Given the description of an element on the screen output the (x, y) to click on. 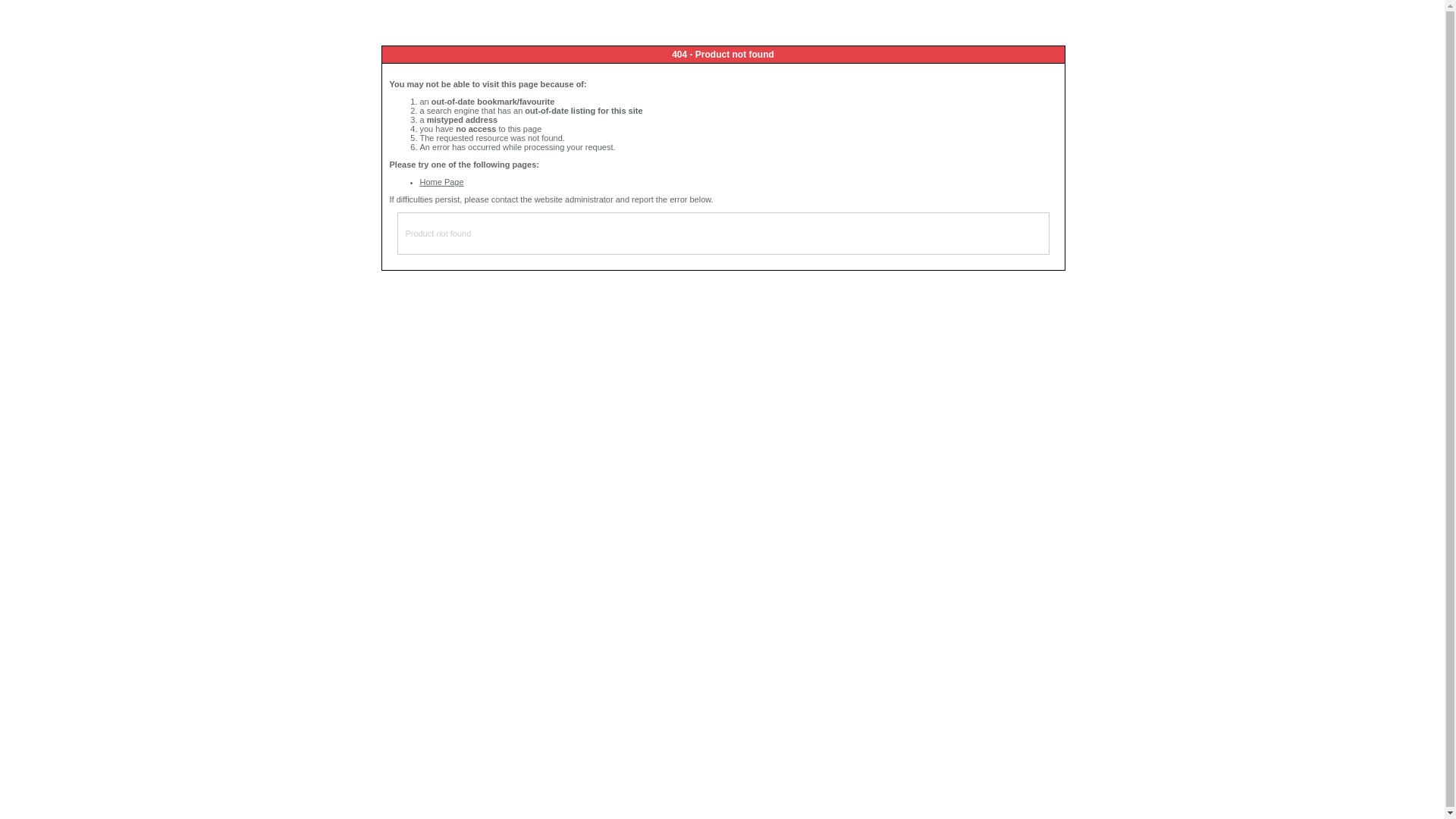
Home Page Element type: text (442, 181)
